Given the description of an element on the screen output the (x, y) to click on. 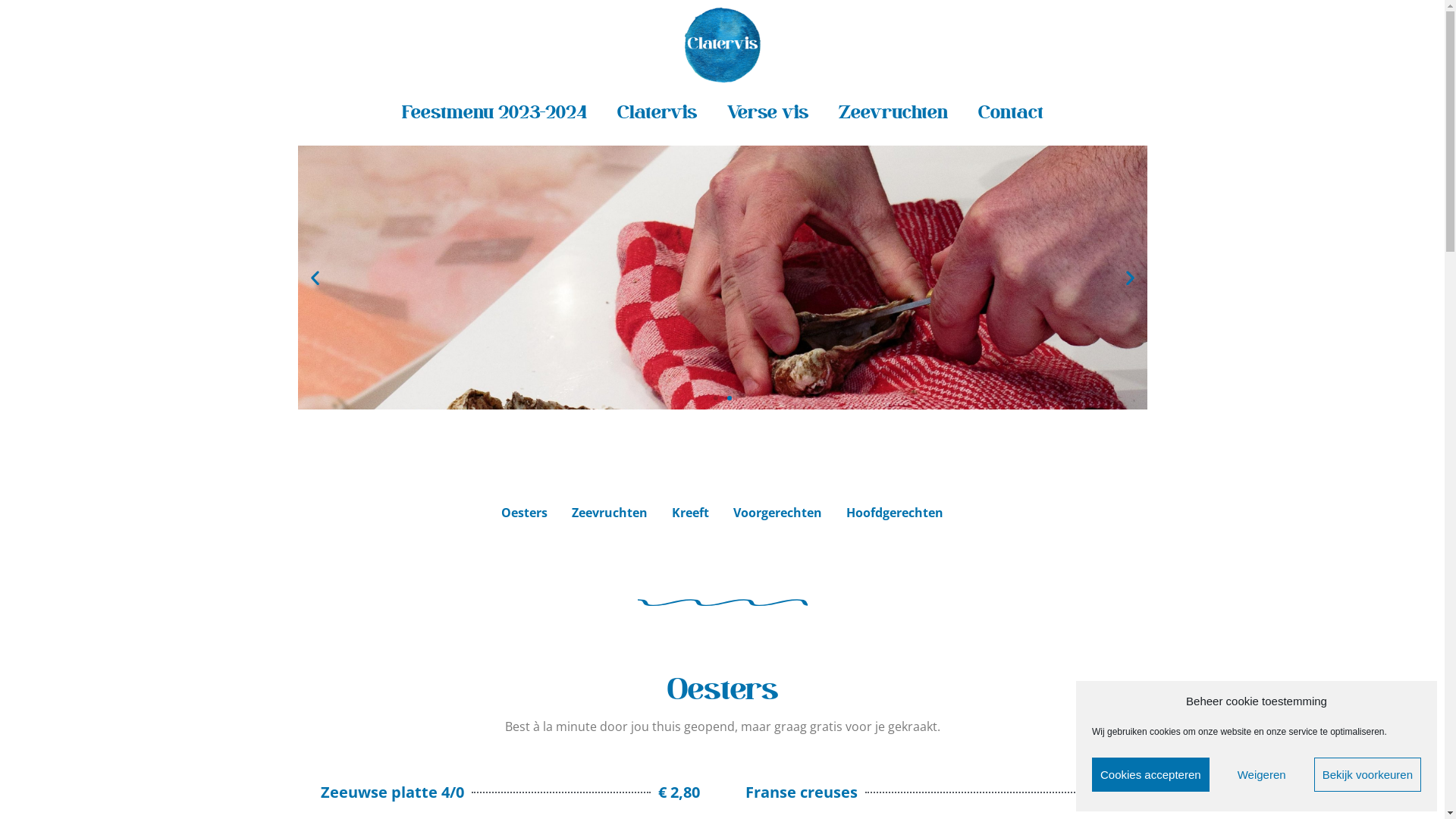
Kreeft Element type: text (690, 512)
Cookies accepteren Element type: text (1150, 774)
Voorgerechten Element type: text (777, 512)
Weigeren Element type: text (1261, 774)
Zeevruchten Element type: text (893, 112)
Contact Element type: text (1010, 112)
Verse vis Element type: text (766, 112)
Bekijk voorkeuren Element type: text (1367, 774)
Feestmenu 2023-2024 Element type: text (494, 112)
Oesters Element type: text (524, 512)
Hoofdgerechten Element type: text (894, 512)
Zeevruchten Element type: text (609, 512)
Clatervis Element type: text (657, 112)
